Given the description of an element on the screen output the (x, y) to click on. 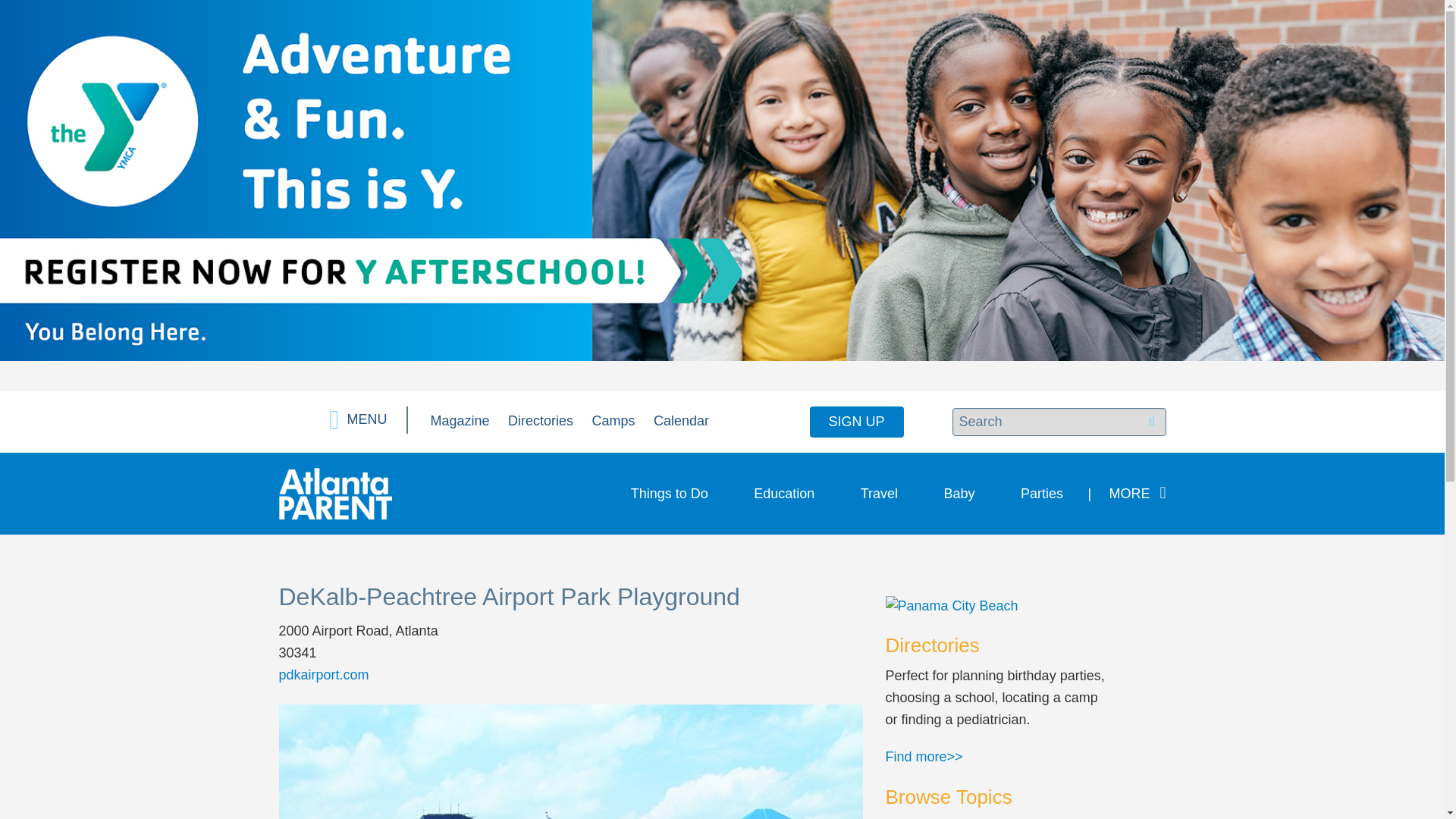
Calendar (681, 420)
MENU (358, 420)
SIGN UP (856, 421)
Panama City Beach  (999, 605)
Camps (612, 420)
Directories (540, 420)
Atlanta Parent (335, 492)
Magazine (459, 420)
